Given the description of an element on the screen output the (x, y) to click on. 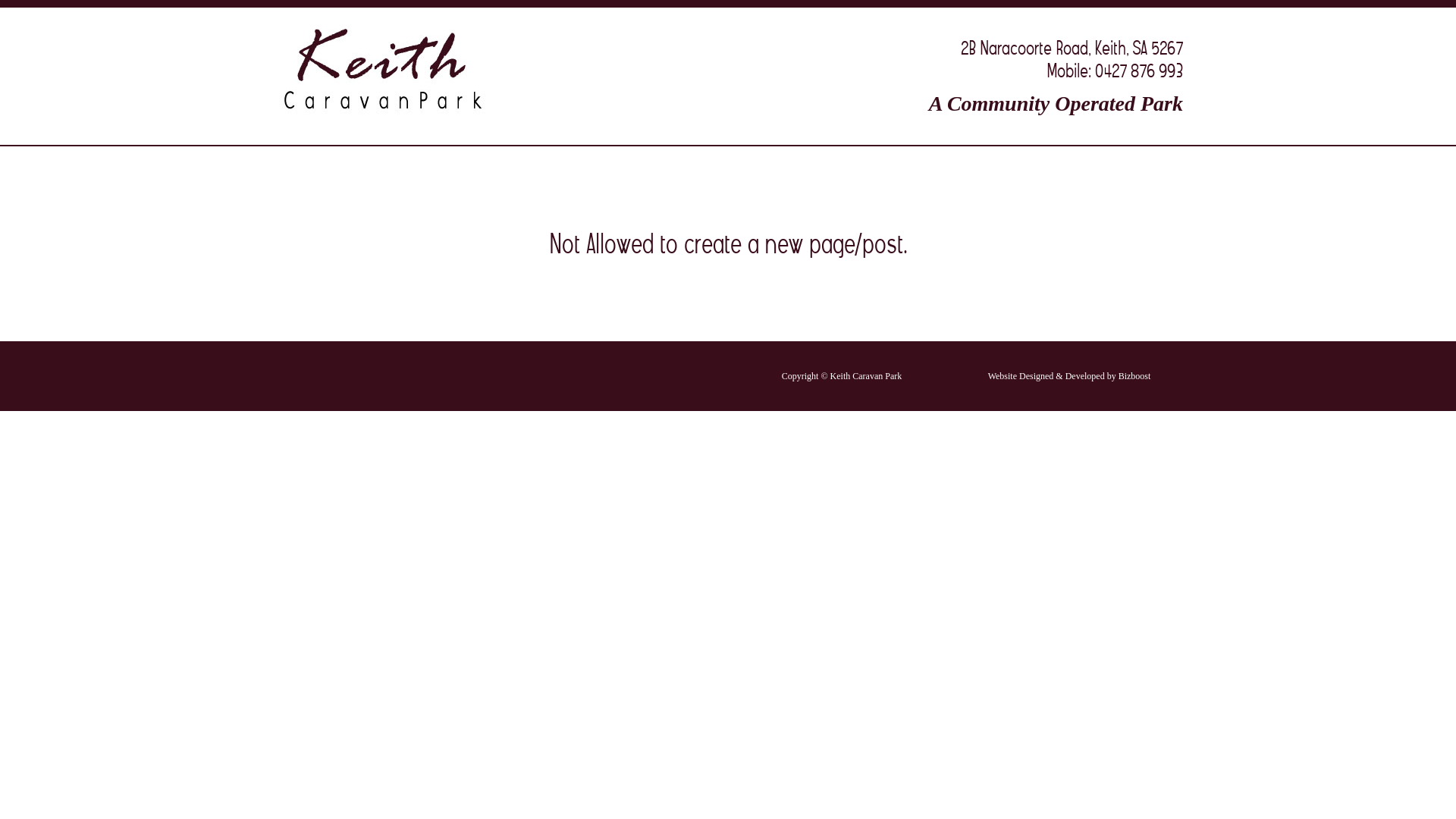
Keith Caravan Park Element type: text (409, 69)
